Given the description of an element on the screen output the (x, y) to click on. 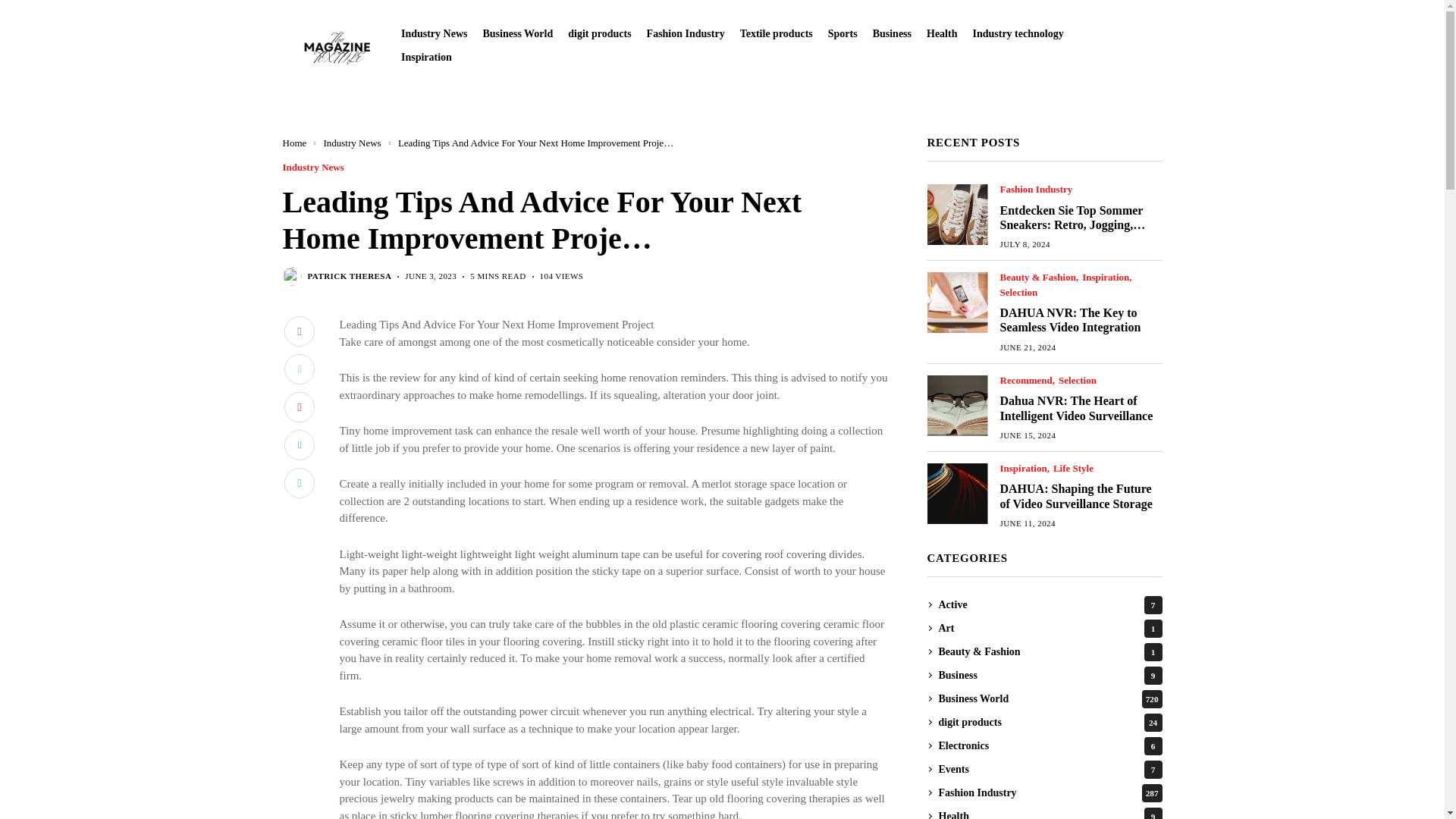
Business (891, 33)
Industry News (434, 33)
Sports (842, 33)
DAHUA NVR: The Key to Seamless Video Integration (956, 301)
Posts by Patrick Theresa (349, 276)
Health (941, 33)
Inspiration (426, 57)
Business World (517, 33)
digit products (598, 33)
Dahua NVR: The Heart of Intelligent Video Surveillance (956, 404)
DAHUA: Shaping the Future of Video Surveillance Storage (956, 492)
Fashion Industry (685, 33)
Industry technology (1017, 33)
Textile products (775, 33)
